Given the description of an element on the screen output the (x, y) to click on. 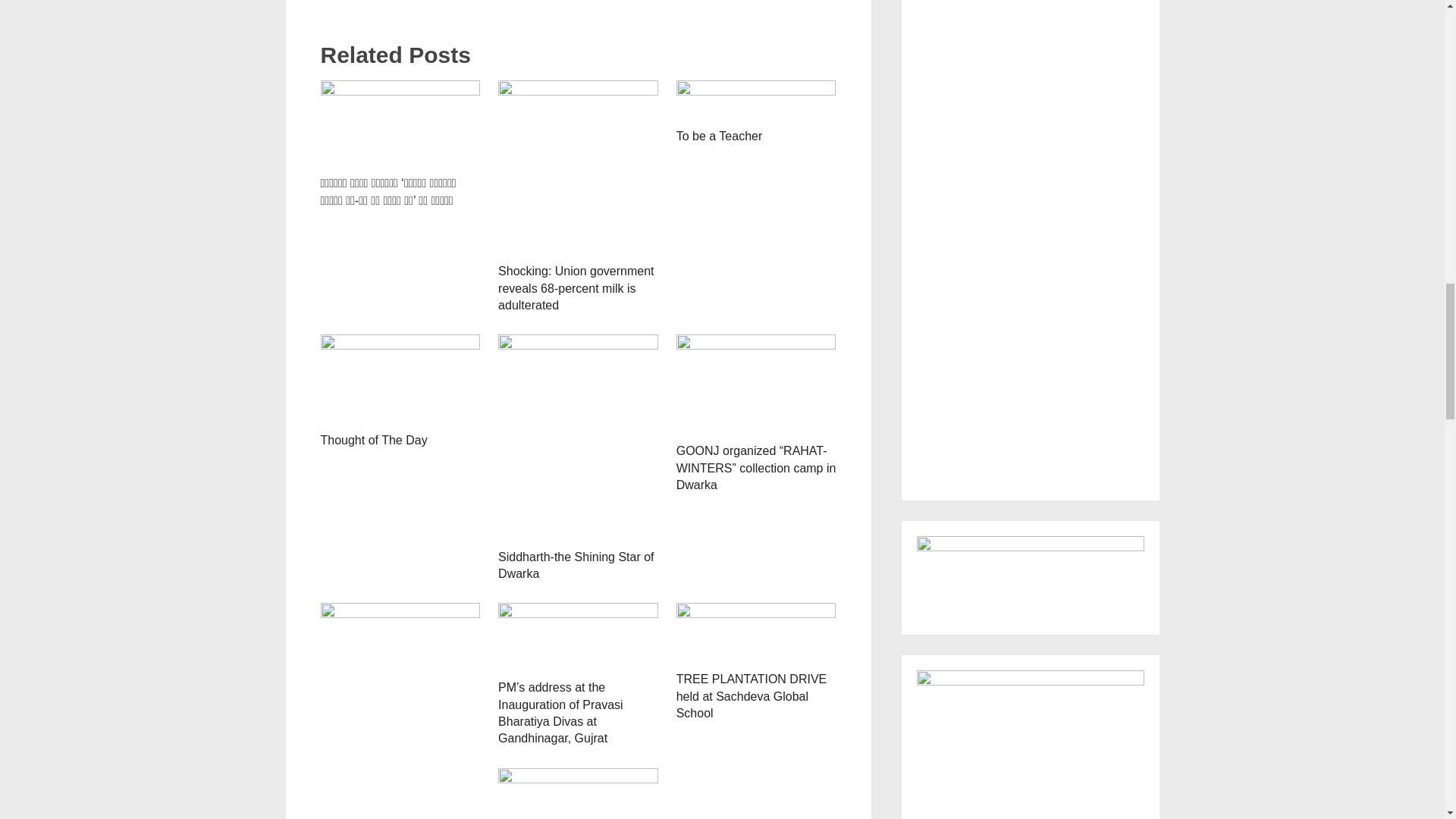
Thought of The Day (400, 379)
To be a Teacher (756, 100)
To be a Teacher (719, 135)
